Given the description of an element on the screen output the (x, y) to click on. 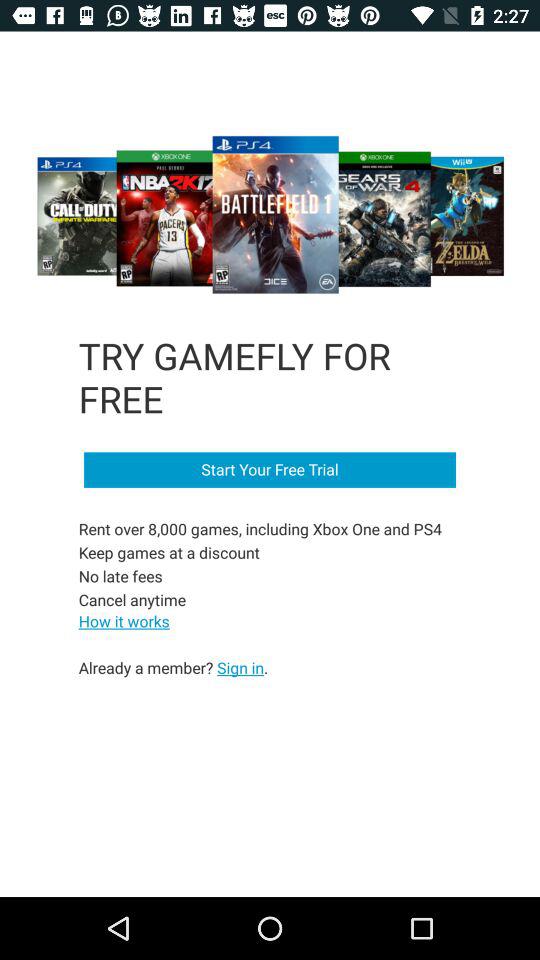
select start your free (269, 469)
